Given the description of an element on the screen output the (x, y) to click on. 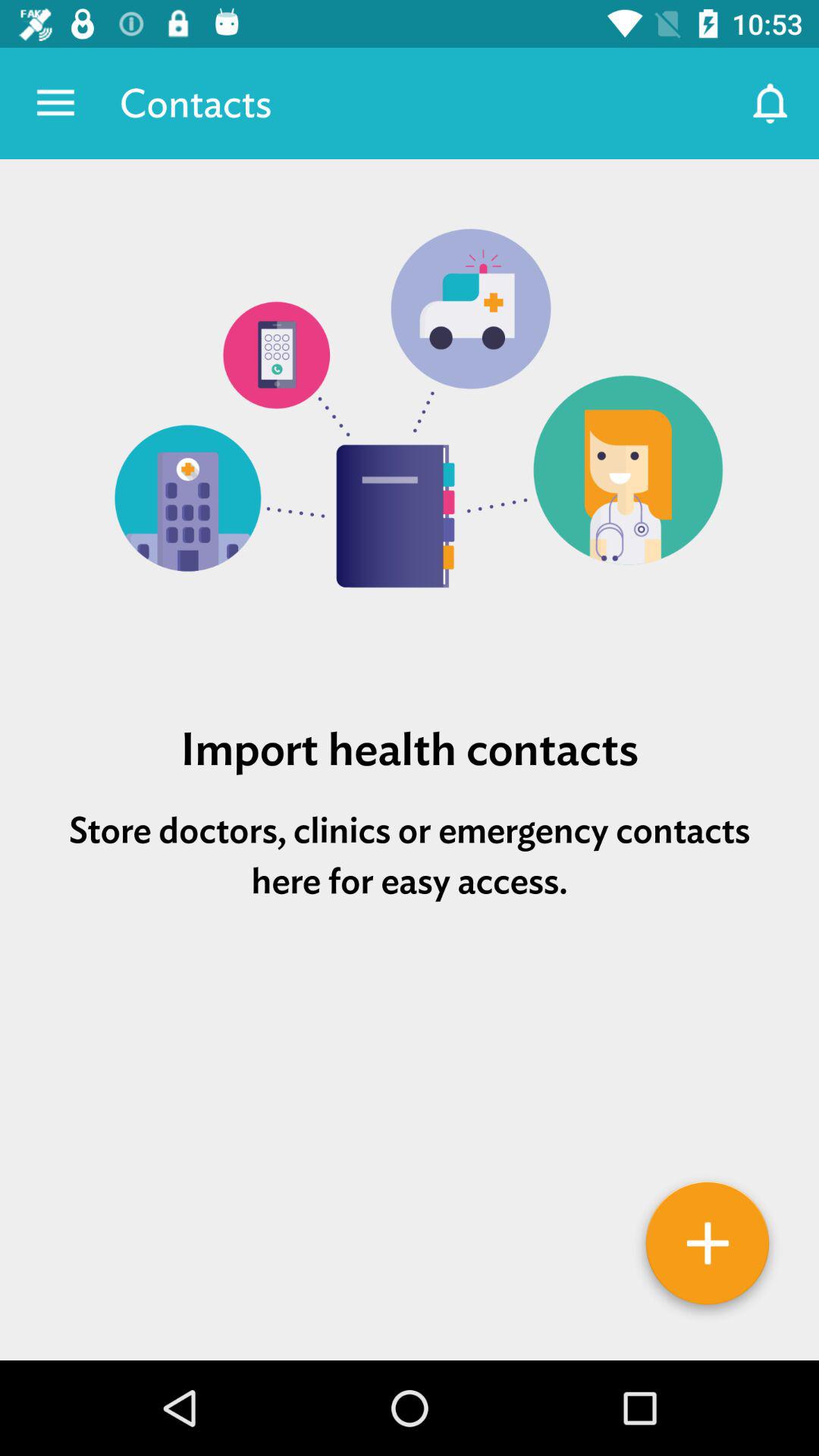
launch icon above import health contacts item (409, 424)
